Given the description of an element on the screen output the (x, y) to click on. 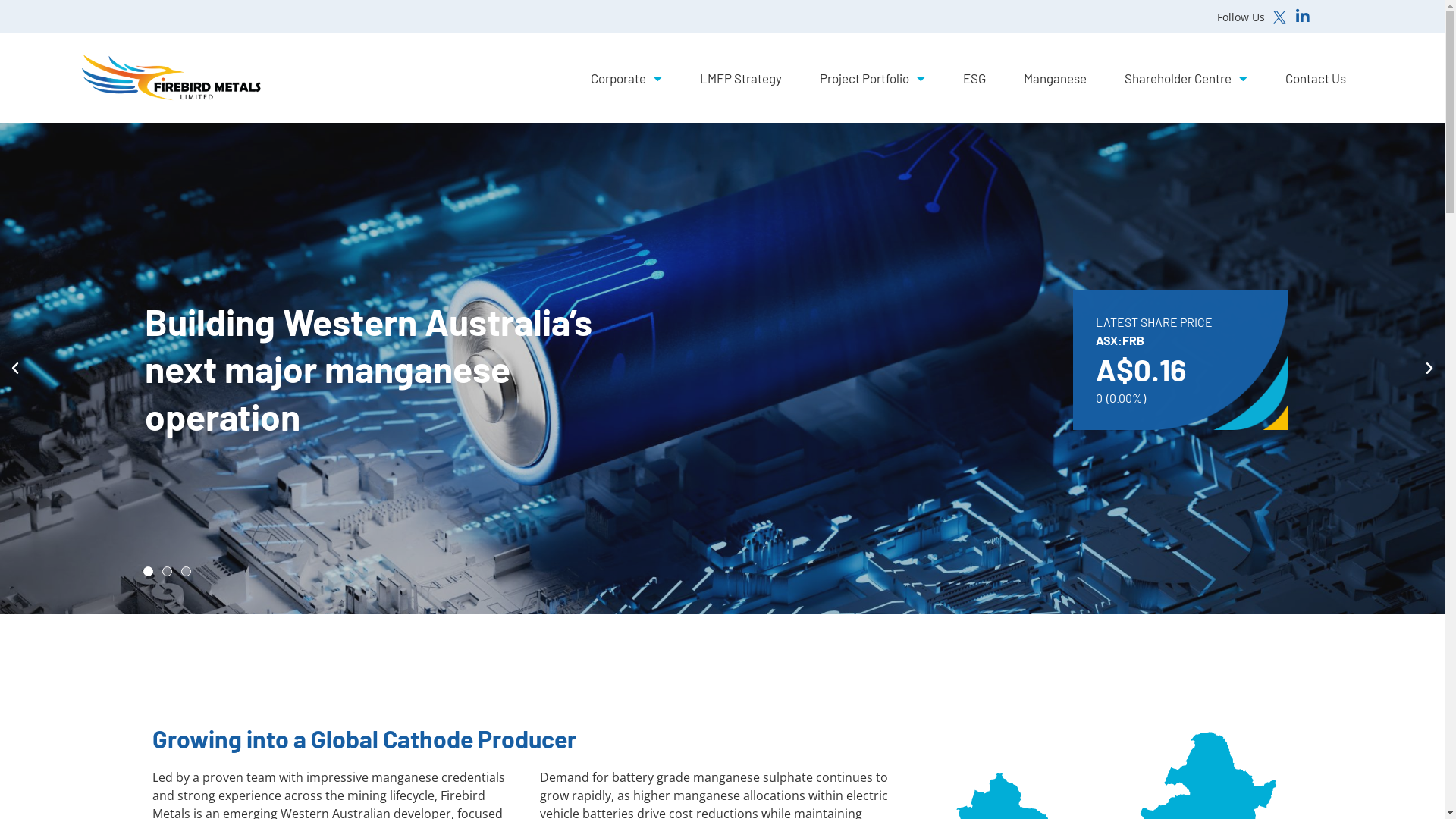
LMFP Strategy Element type: text (740, 77)
Shareholder Centre Element type: text (1185, 77)
ESG Element type: text (974, 77)
Manganese Element type: text (1054, 77)
Contact Us Element type: text (1315, 77)
Corporate Element type: text (625, 77)
Project Portfolio Element type: text (872, 77)
